Given the description of an element on the screen output the (x, y) to click on. 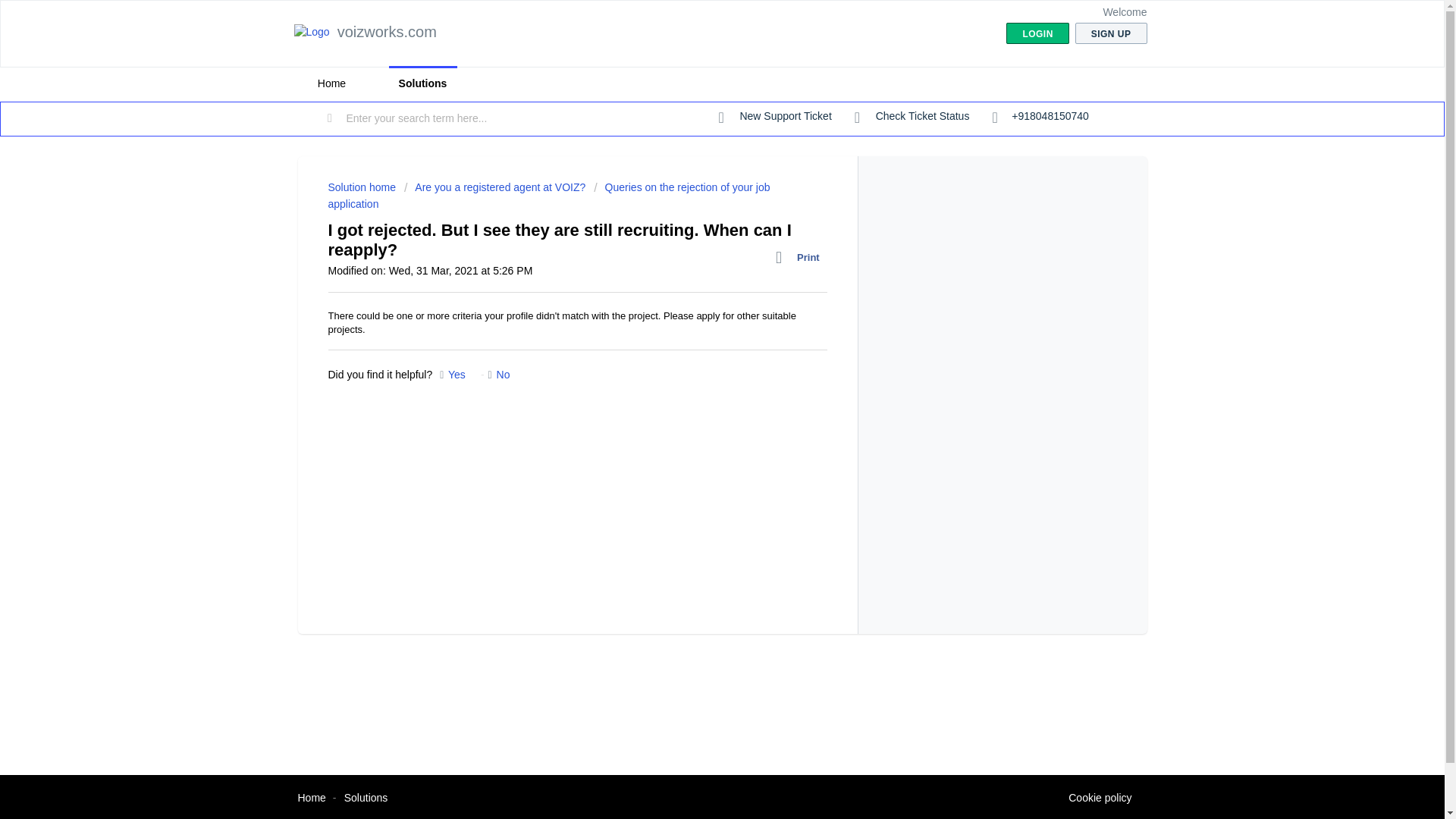
Solutions (422, 83)
Print this Article (801, 257)
Are you a registered agent at VOIZ? (494, 186)
Solution home (362, 186)
Print (801, 257)
Why we love Cookies (1099, 798)
SIGN UP (1111, 33)
Cookie policy (1099, 798)
New support ticket (775, 116)
New Support Ticket (775, 116)
